Given the description of an element on the screen output the (x, y) to click on. 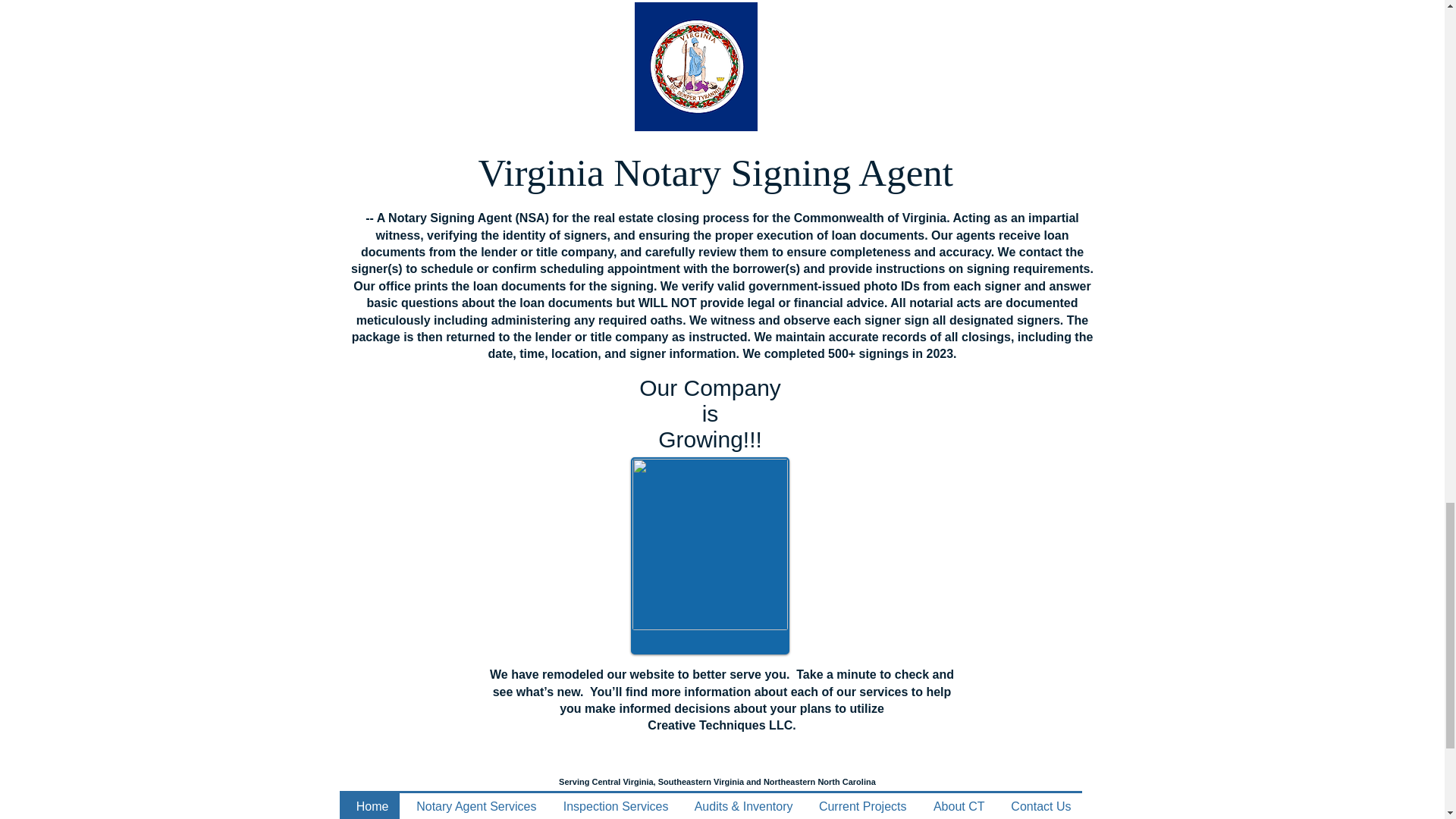
Inspection Services (613, 806)
Current Projects (860, 806)
Home (368, 806)
About CT (956, 806)
download.png (695, 66)
Contact Us (1037, 806)
Notary Agent Services (472, 806)
